Given the description of an element on the screen output the (x, y) to click on. 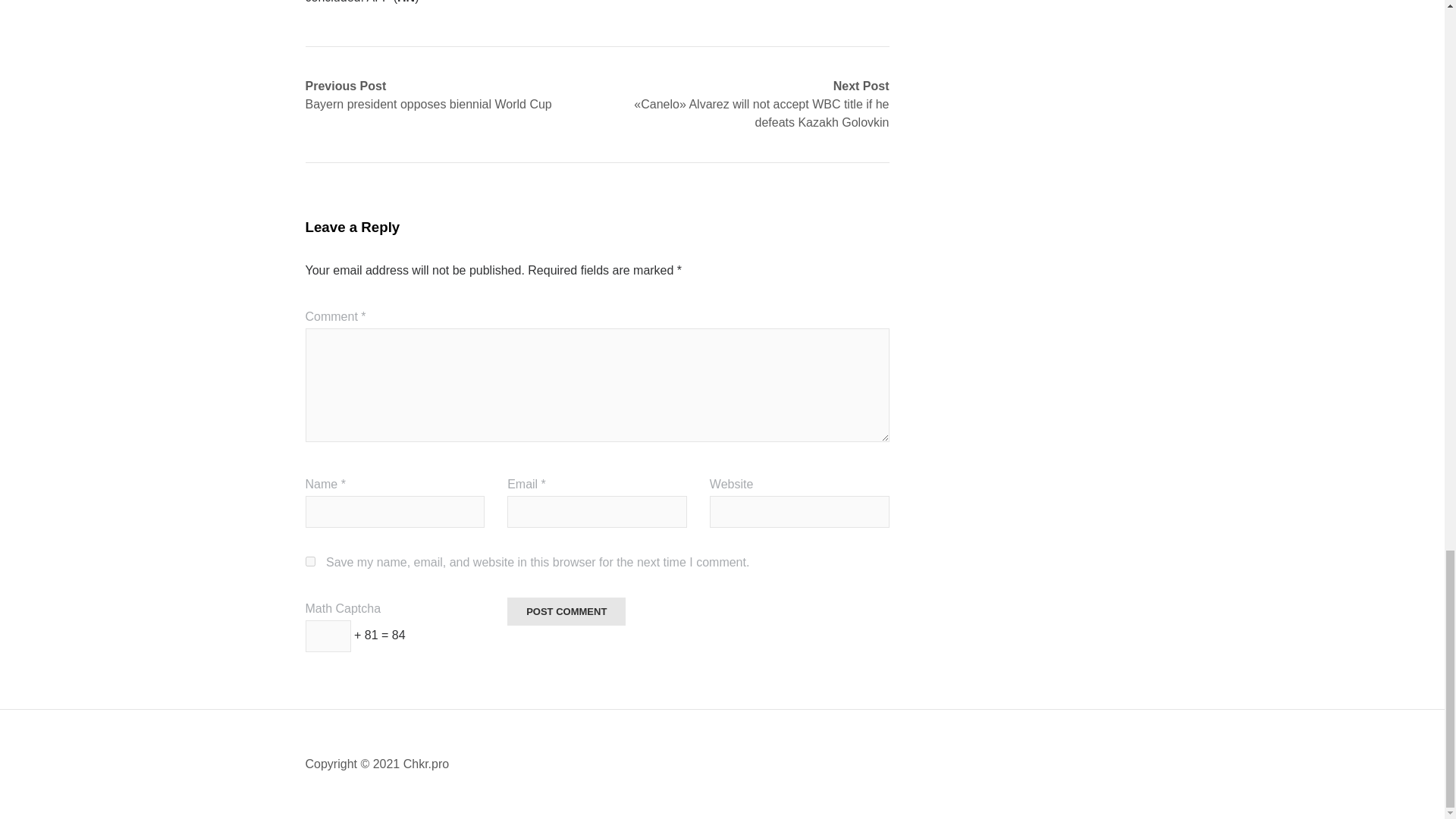
yes (309, 561)
Post Comment (566, 611)
Post Comment (566, 611)
